Given the description of an element on the screen output the (x, y) to click on. 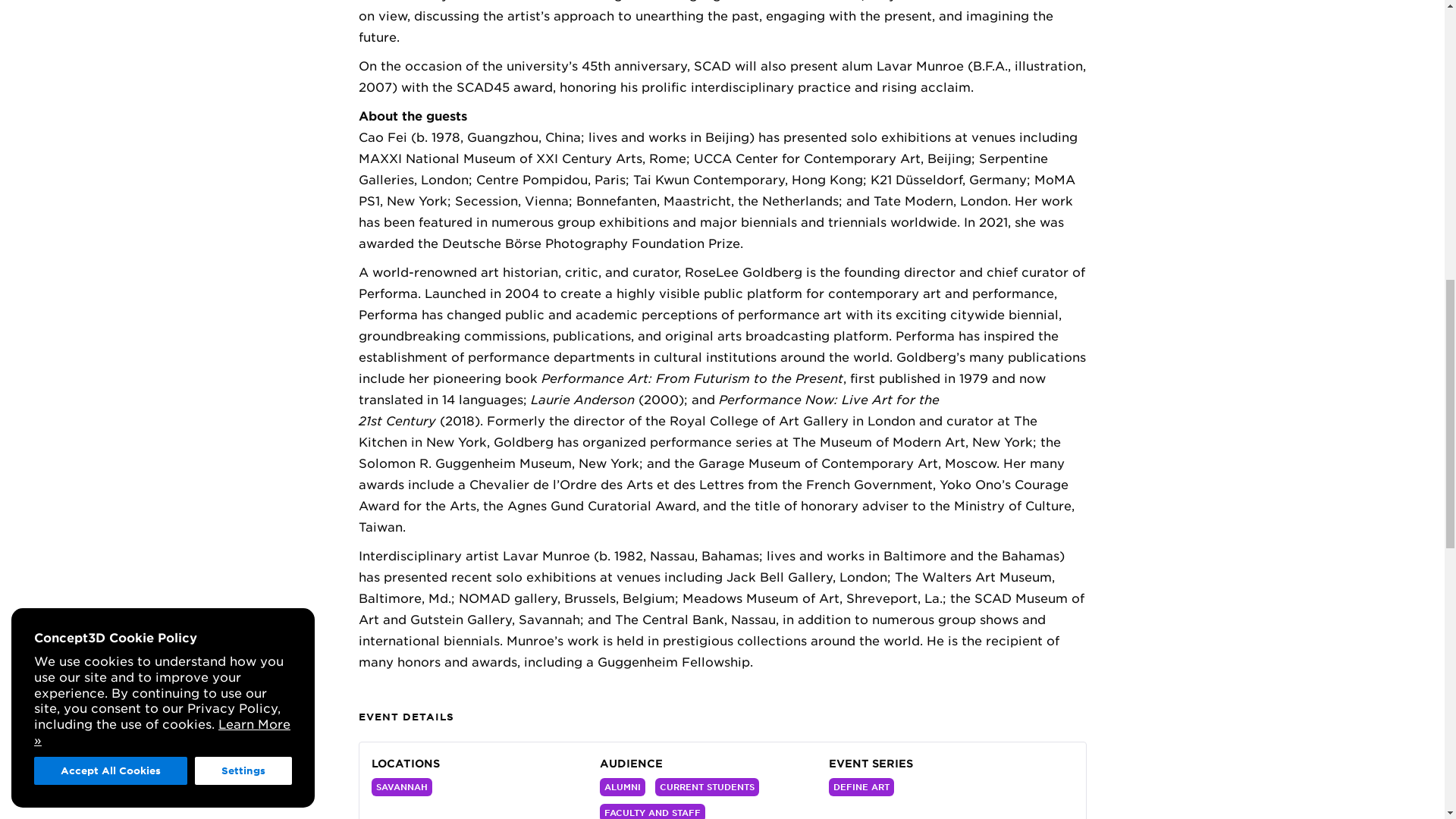
FACULTY AND STAFF (651, 811)
CURRENT STUDENTS (706, 787)
ALUMNI (622, 787)
DEFINE ART (860, 787)
SAVANNAH (401, 787)
